Given the description of an element on the screen output the (x, y) to click on. 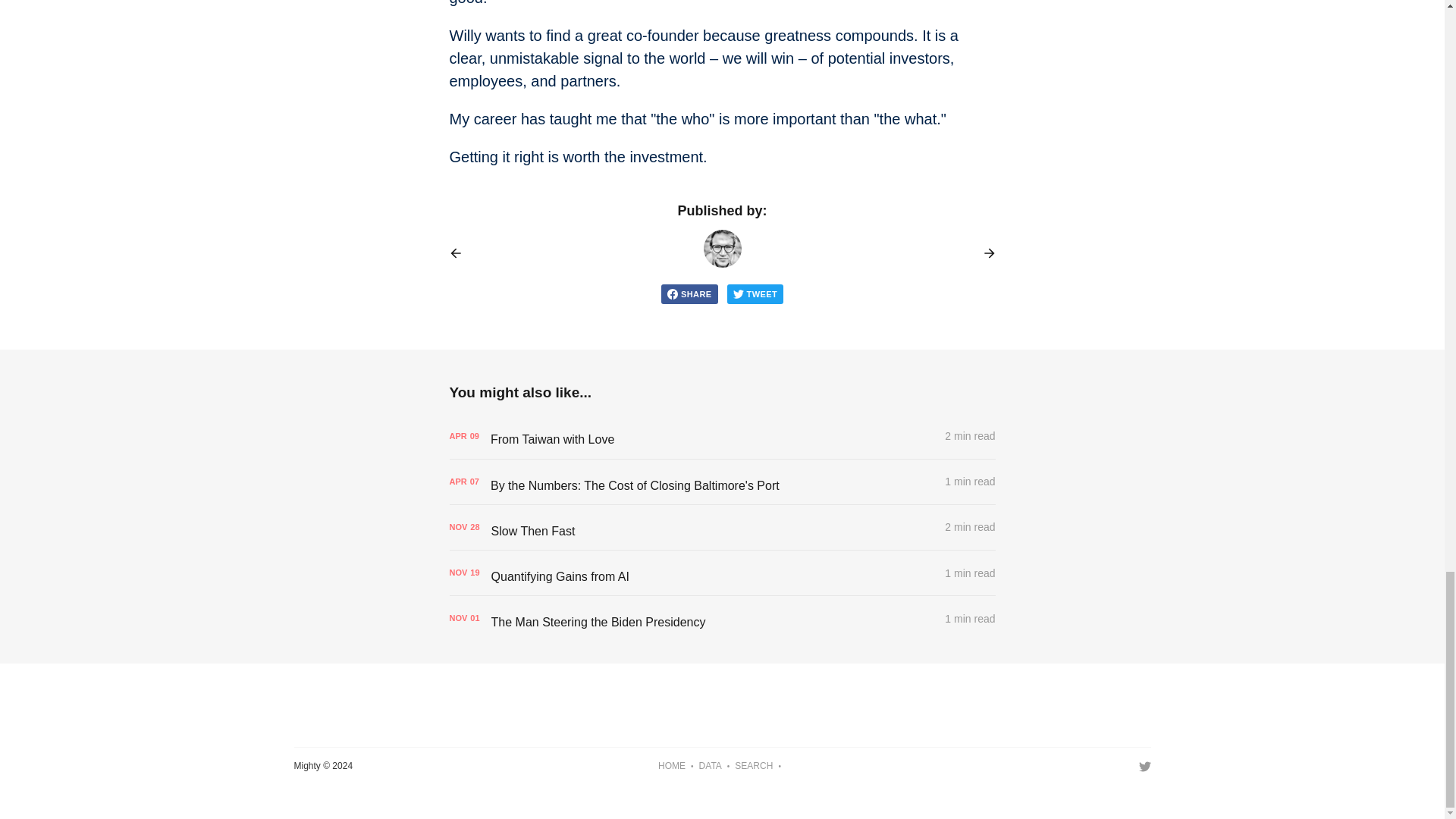
SHARE (689, 293)
TWEET (755, 293)
HOME (671, 766)
SEARCH (754, 766)
DATA (710, 766)
